Given the description of an element on the screen output the (x, y) to click on. 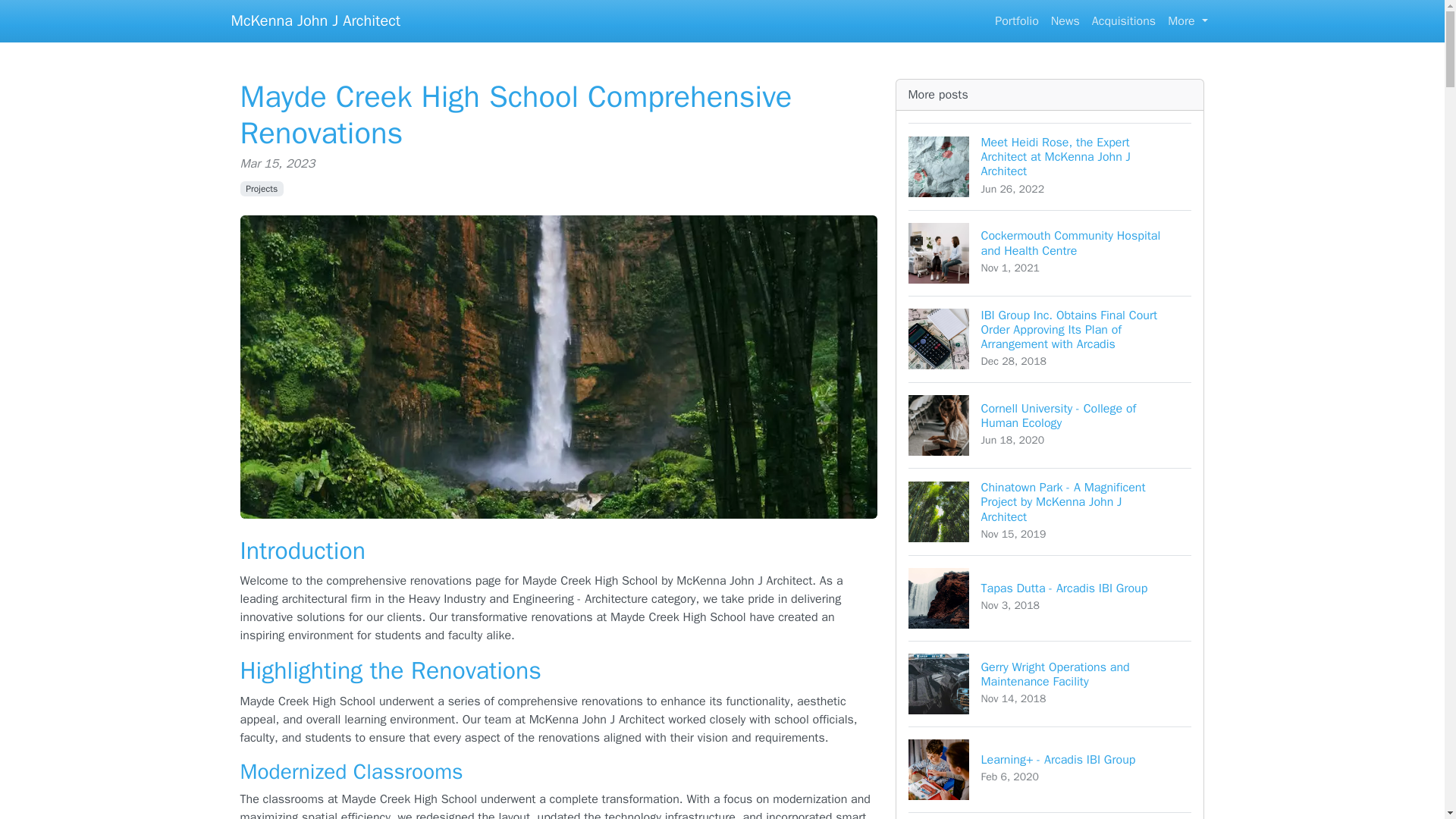
Projects (1050, 424)
More (261, 188)
Acquisitions (1186, 20)
News (1050, 597)
